Given the description of an element on the screen output the (x, y) to click on. 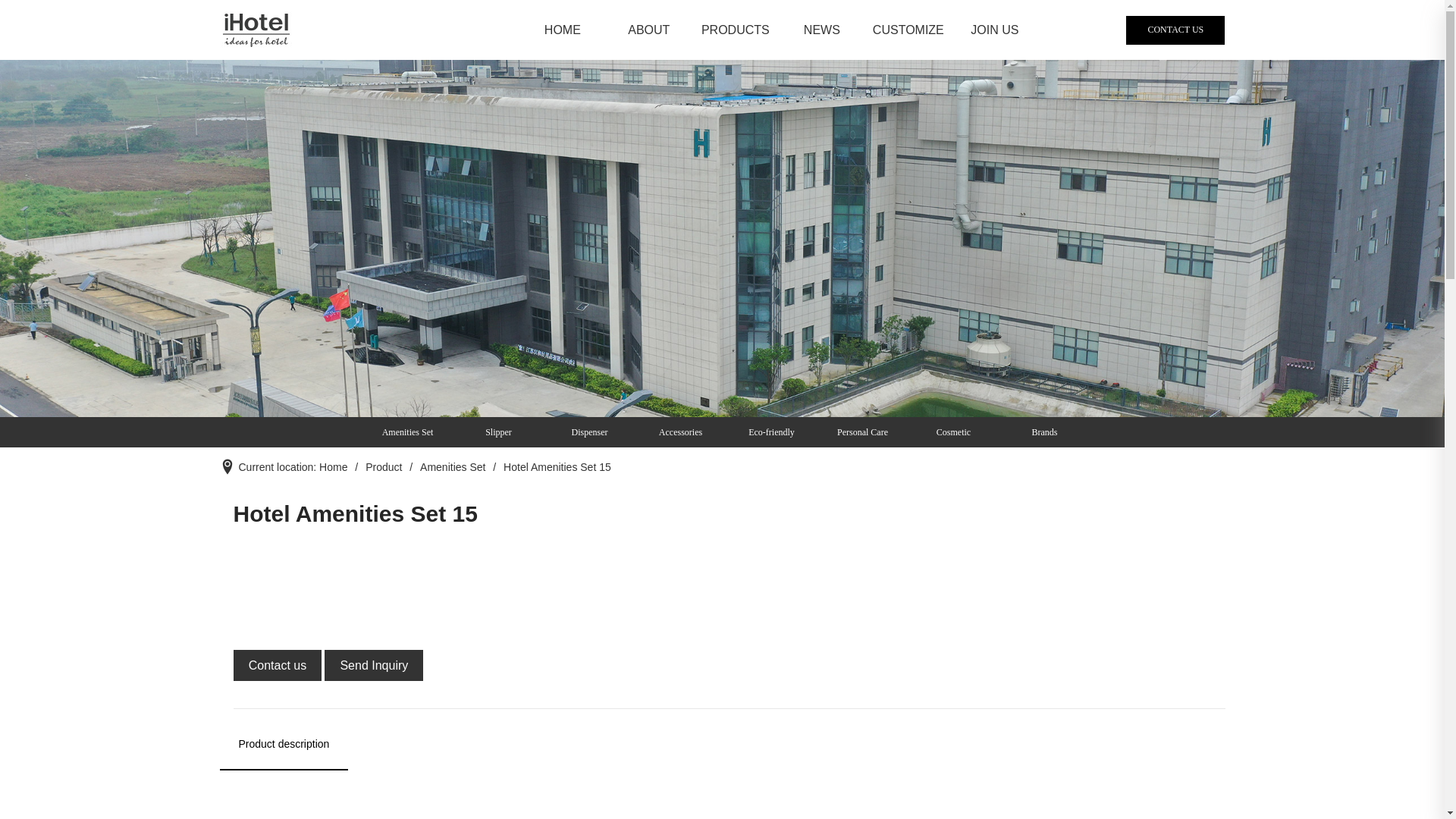
PRODUCTS Element type: text (735, 30)
iHotel Element type: hover (255, 29)
JOIN US Element type: text (994, 30)
Accessories Element type: text (675, 432)
HOME Element type: text (562, 30)
Brands Element type: text (1039, 432)
CUSTOMIZE Element type: text (908, 30)
Dispenser Element type: text (584, 432)
Home Element type: text (333, 467)
Send Inquiry Element type: text (373, 668)
Cosmetic Element type: text (948, 432)
ABOUT Element type: text (648, 30)
Amenities Set Element type: text (452, 467)
img Element type: hover (722, 238)
Eco-friendly Element type: text (766, 432)
CONTACT US Element type: text (1175, 29)
Slipper Element type: text (493, 432)
Contact us Element type: text (279, 668)
NEWS Element type: text (821, 30)
Personal Care Element type: text (857, 432)
Product Element type: text (383, 467)
Amenities Set Element type: text (402, 432)
